Given the description of an element on the screen output the (x, y) to click on. 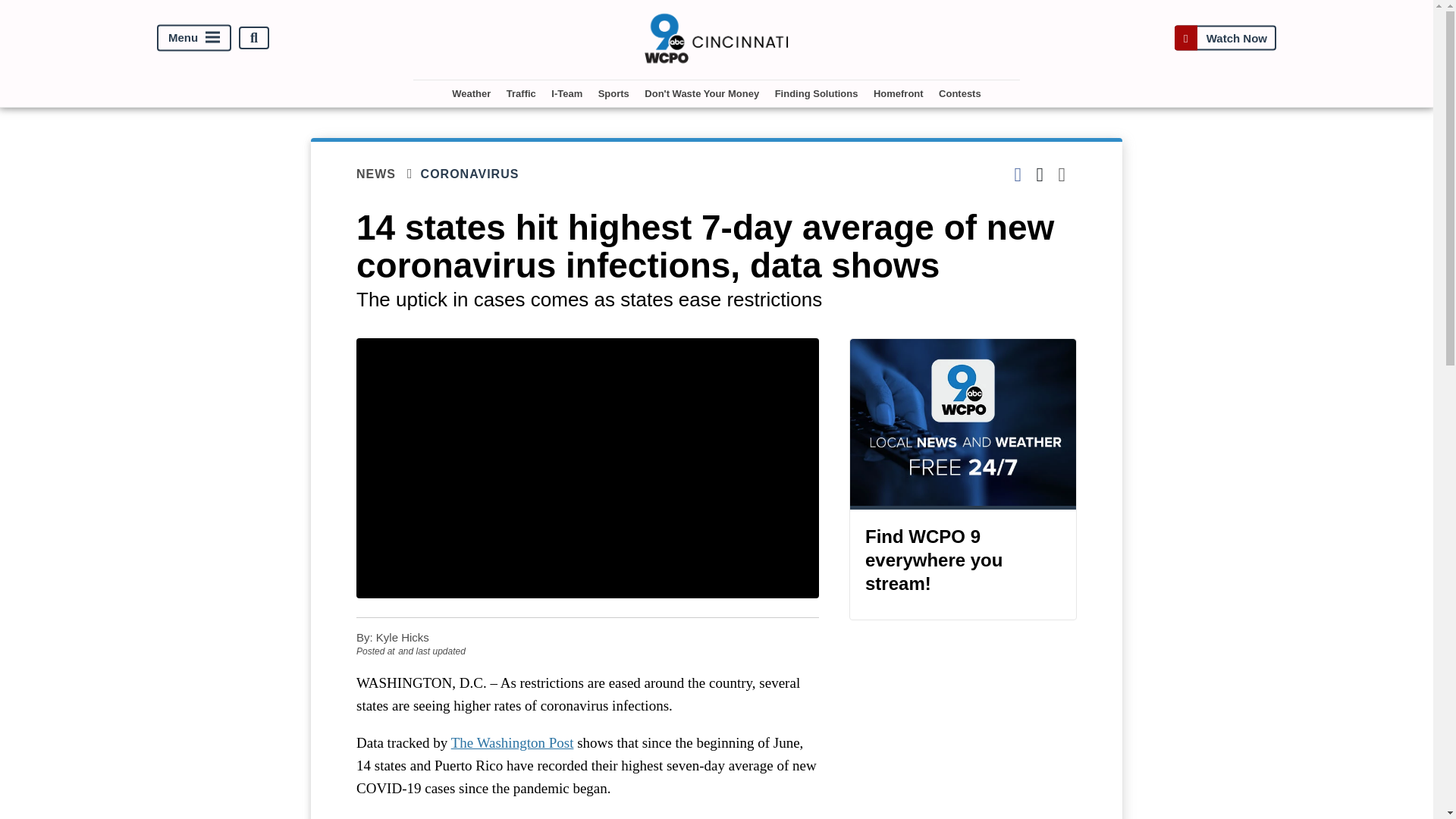
Menu (194, 38)
Watch Now (1224, 38)
